Given the description of an element on the screen output the (x, y) to click on. 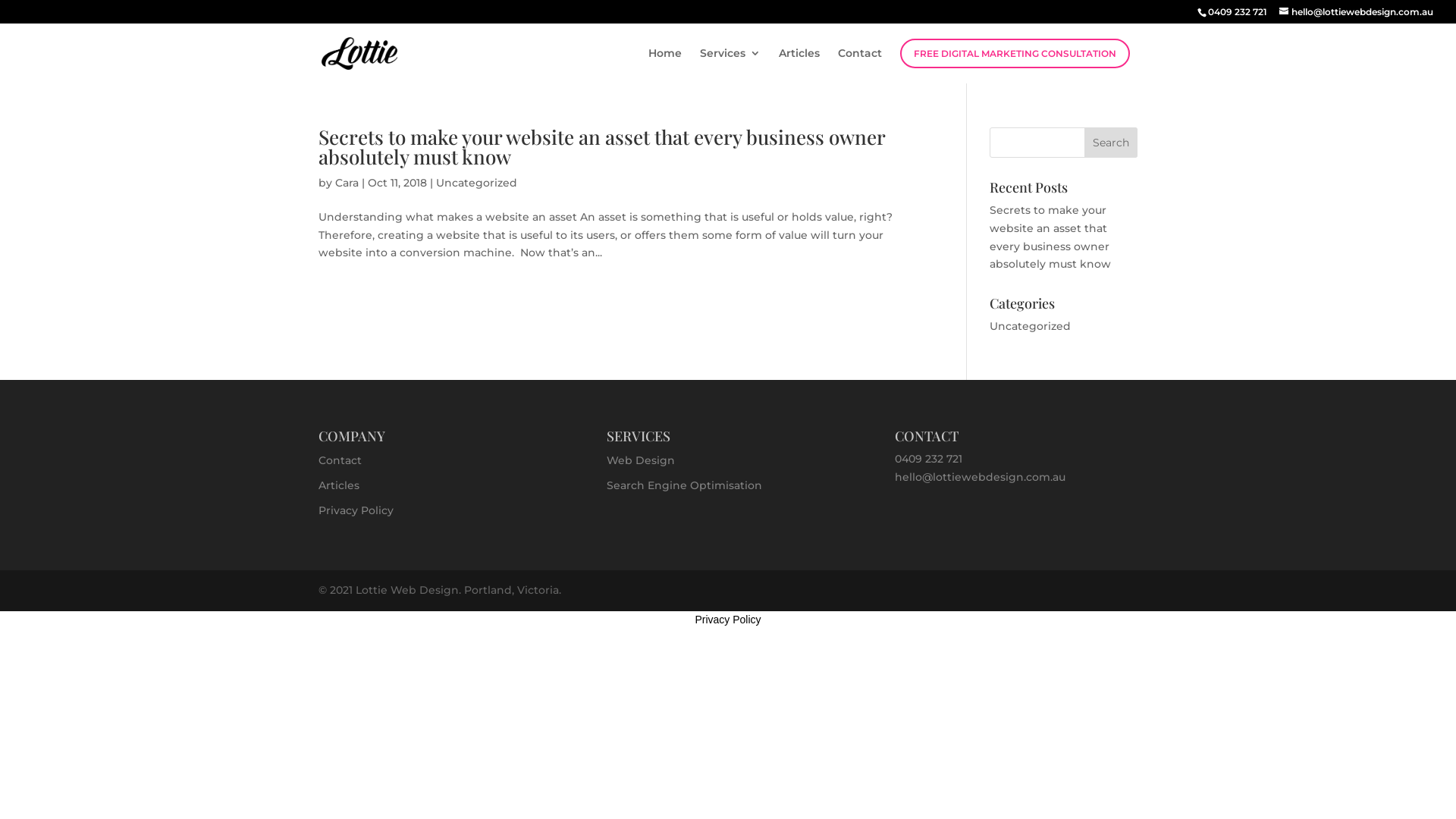
Privacy Policy Element type: text (355, 510)
Search Element type: text (1110, 142)
0409 232 721 Element type: text (928, 458)
Home Element type: text (664, 65)
Contact Element type: text (859, 65)
hello@lottiewebdesign.com.au Element type: text (1356, 11)
Uncategorized Element type: text (476, 182)
Uncategorized Element type: text (1029, 325)
Search Engine Optimisation Element type: text (684, 485)
Services Element type: text (729, 65)
Web Design Element type: text (640, 460)
Privacy Policy Element type: text (727, 619)
Articles Element type: text (338, 485)
FREE DIGITAL MARKETING CONSULTATION Element type: text (1014, 53)
Contact Element type: text (339, 460)
Articles Element type: text (798, 65)
Cara Element type: text (346, 182)
